Given the description of an element on the screen output the (x, y) to click on. 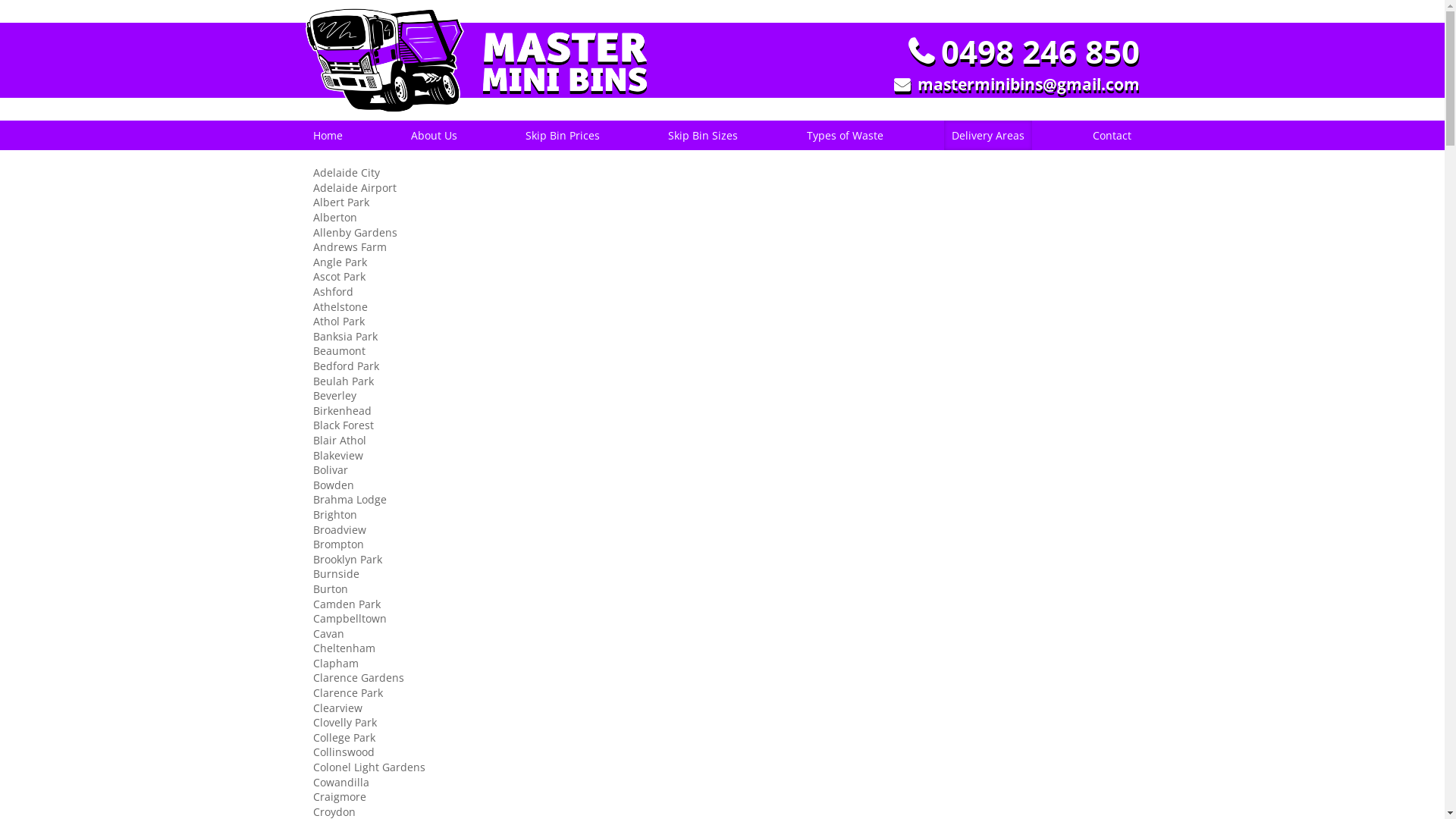
masterminibins@gmail.com Element type: text (1016, 84)
Contact Element type: text (1112, 135)
About Us Element type: text (433, 135)
Skip Bin Prices Element type: text (562, 135)
Delivery Areas Element type: text (988, 135)
Home Element type: text (326, 135)
Types of Waste Element type: text (845, 135)
Skip Bin Sizes Element type: text (702, 135)
